Given the description of an element on the screen output the (x, y) to click on. 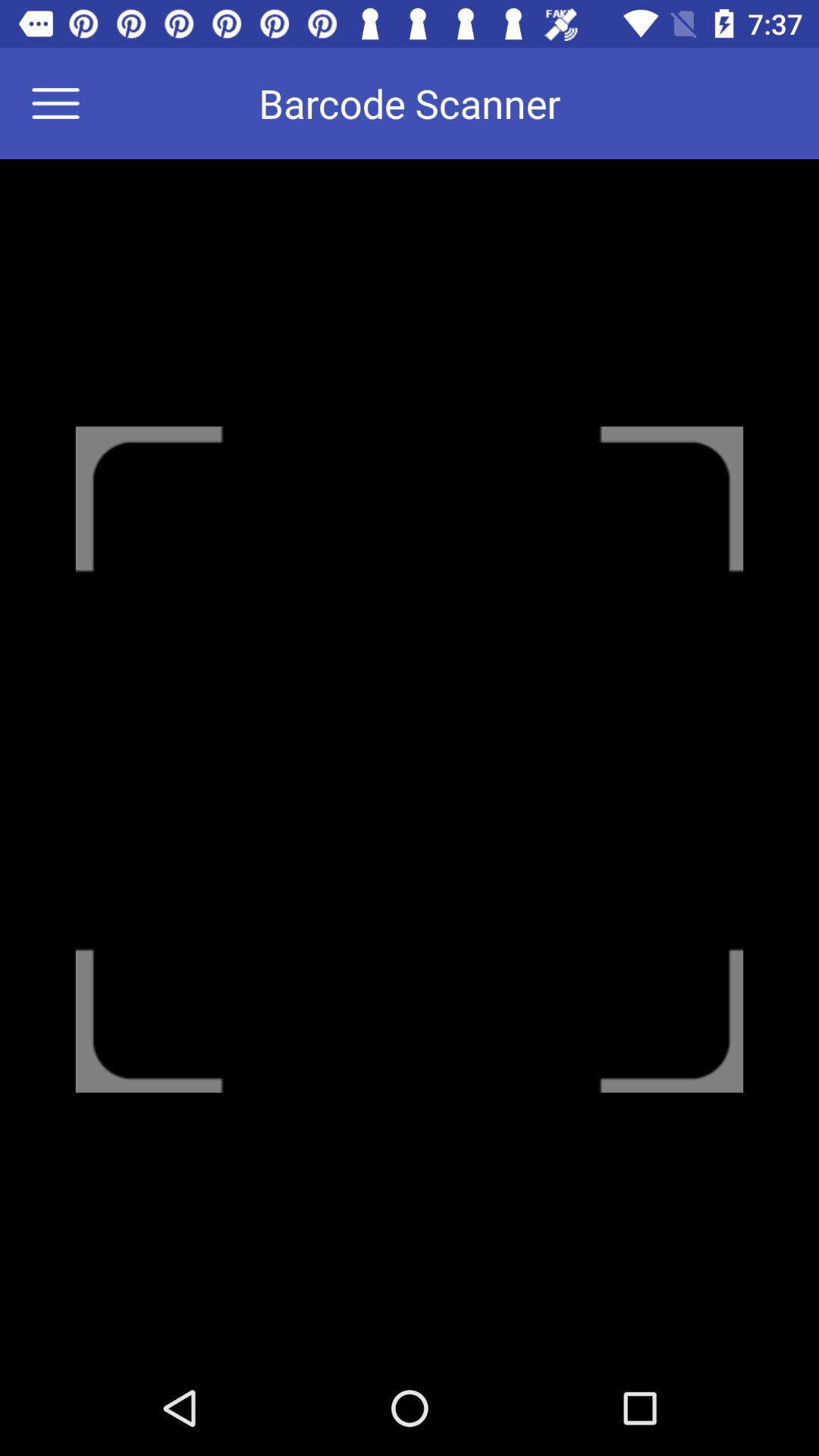
barcode scanner (65, 103)
